Given the description of an element on the screen output the (x, y) to click on. 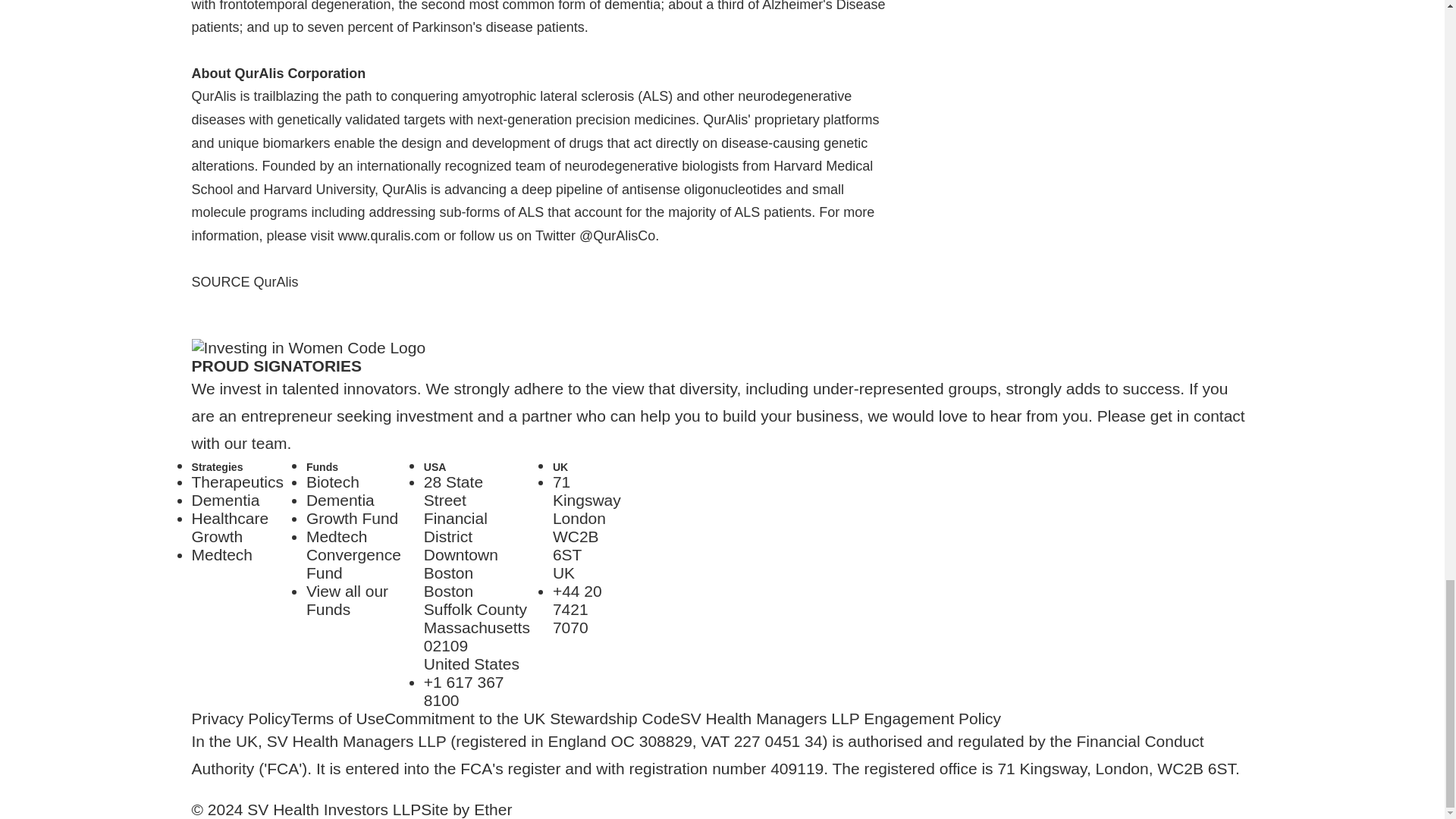
Healthcare Growth (587, 527)
Medtech Convergence Fund (228, 527)
Dementia (353, 554)
Therapeutics (339, 499)
View all our Funds (236, 481)
Dementia (346, 600)
www.quralis.com (224, 499)
Medtech (388, 235)
Privacy Policy (220, 554)
Biotech (239, 718)
Growth Fund (332, 481)
Please get in contact with our team. (351, 518)
